Given the description of an element on the screen output the (x, y) to click on. 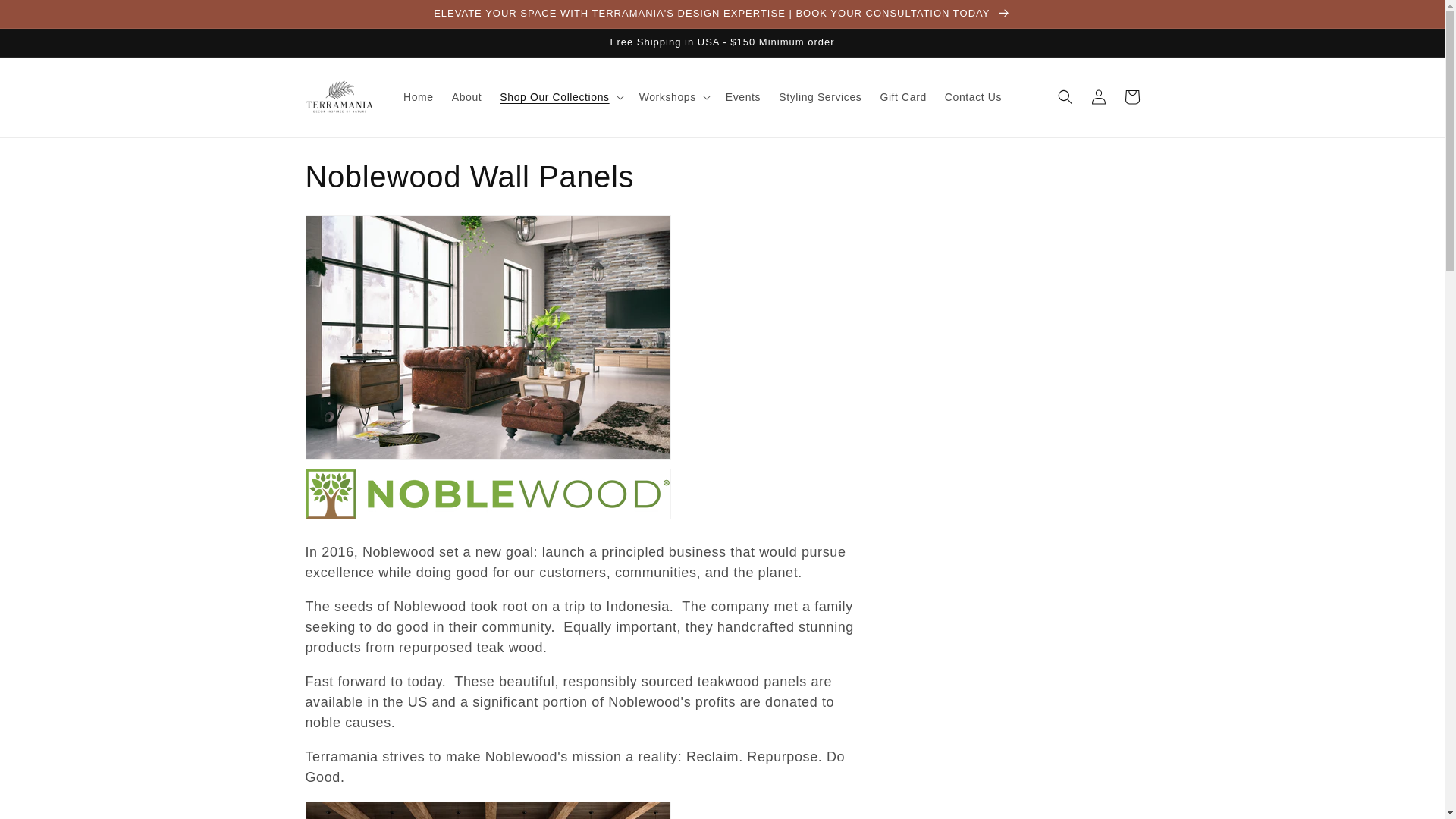
Skip to content (45, 17)
About (467, 97)
Home (418, 97)
